Given the description of an element on the screen output the (x, y) to click on. 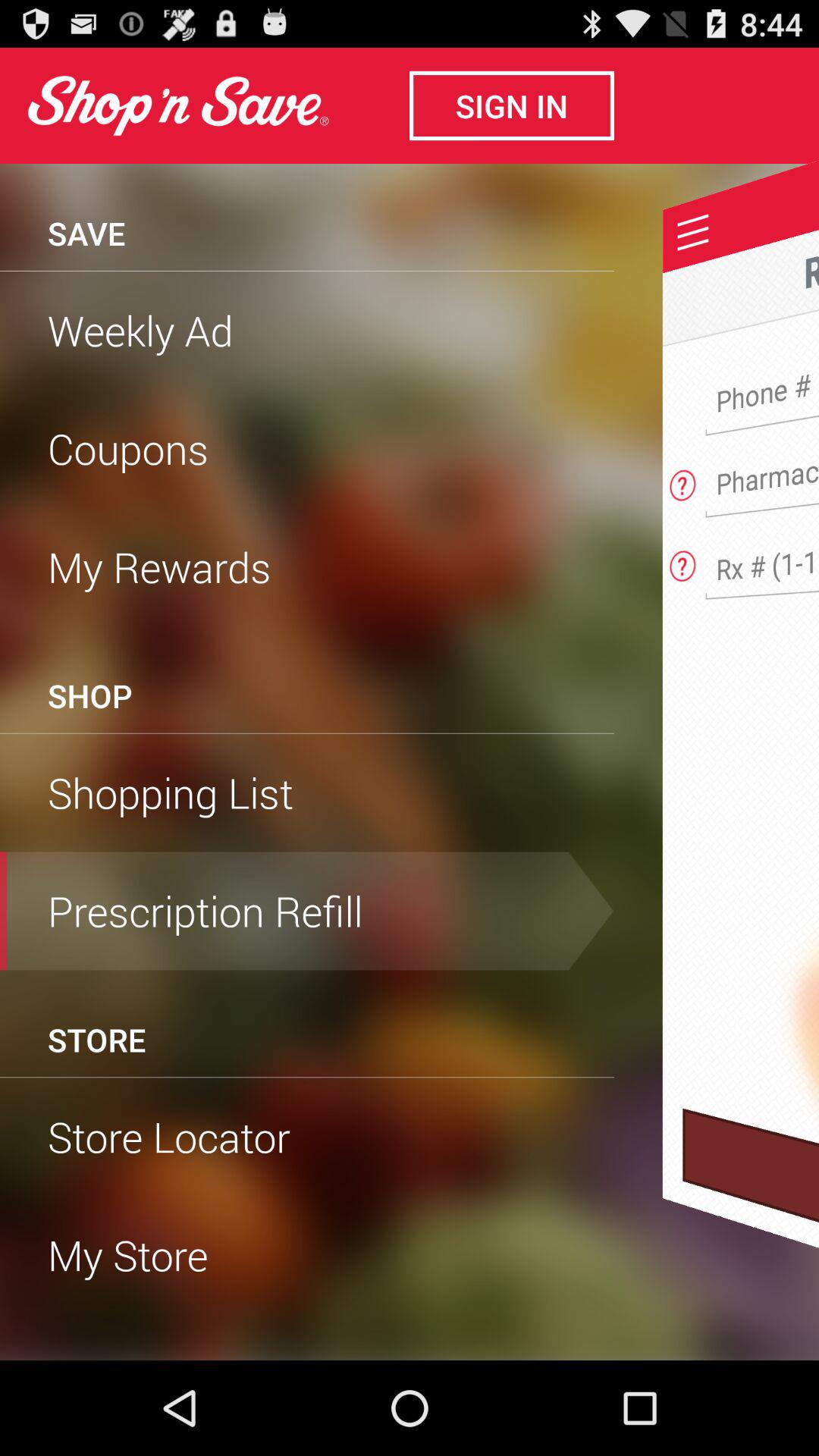
tap sign in button (511, 105)
